Given the description of an element on the screen output the (x, y) to click on. 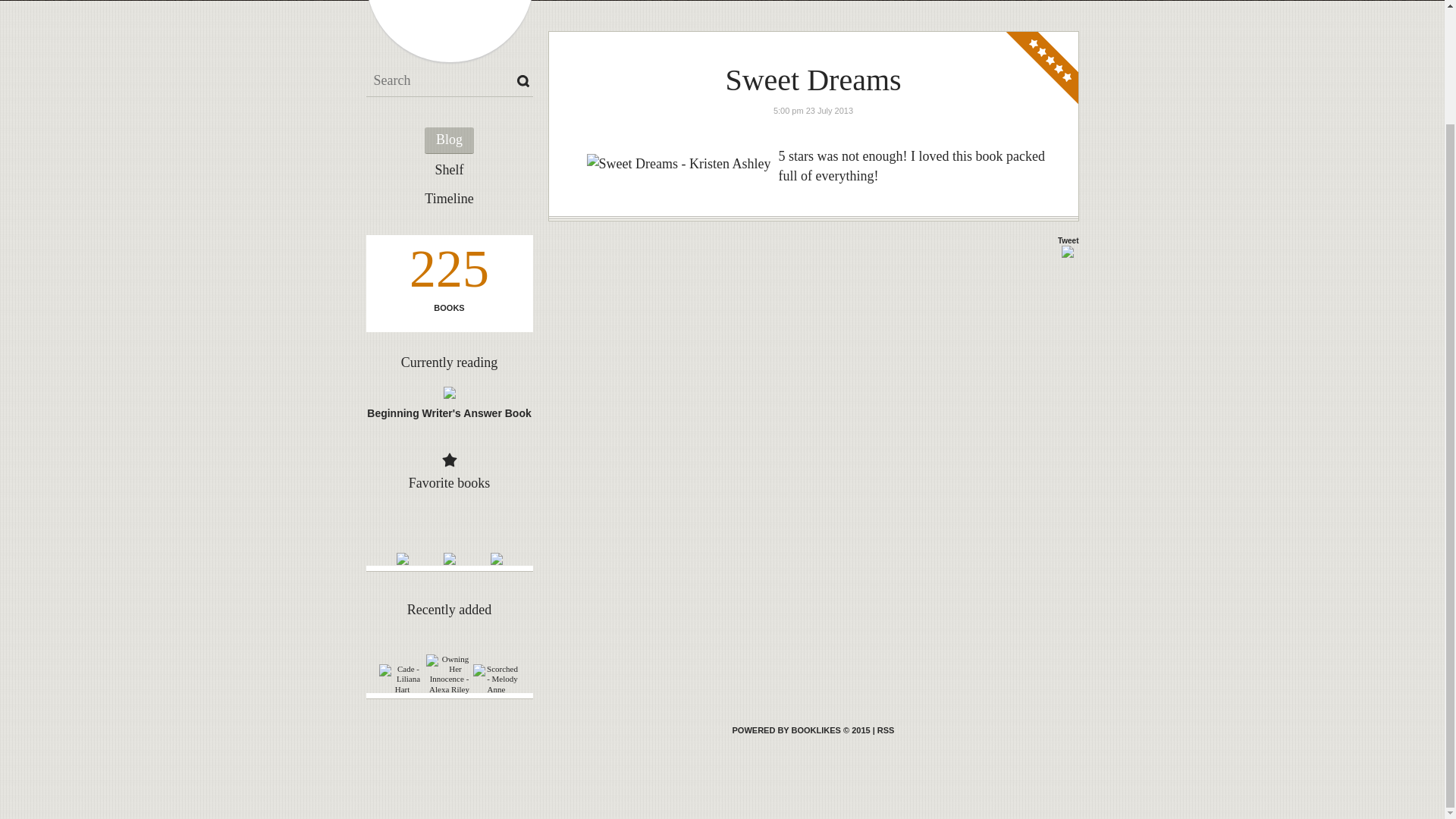
225 (448, 272)
RSS (886, 729)
BookLikes (801, 729)
Sweet Dreams (813, 80)
BOOKS (448, 307)
Favorite books (449, 482)
BookLikes (886, 729)
Shelf (448, 170)
5:00 pm 23 July 2013 (813, 110)
Currently reading (449, 362)
